Given the description of an element on the screen output the (x, y) to click on. 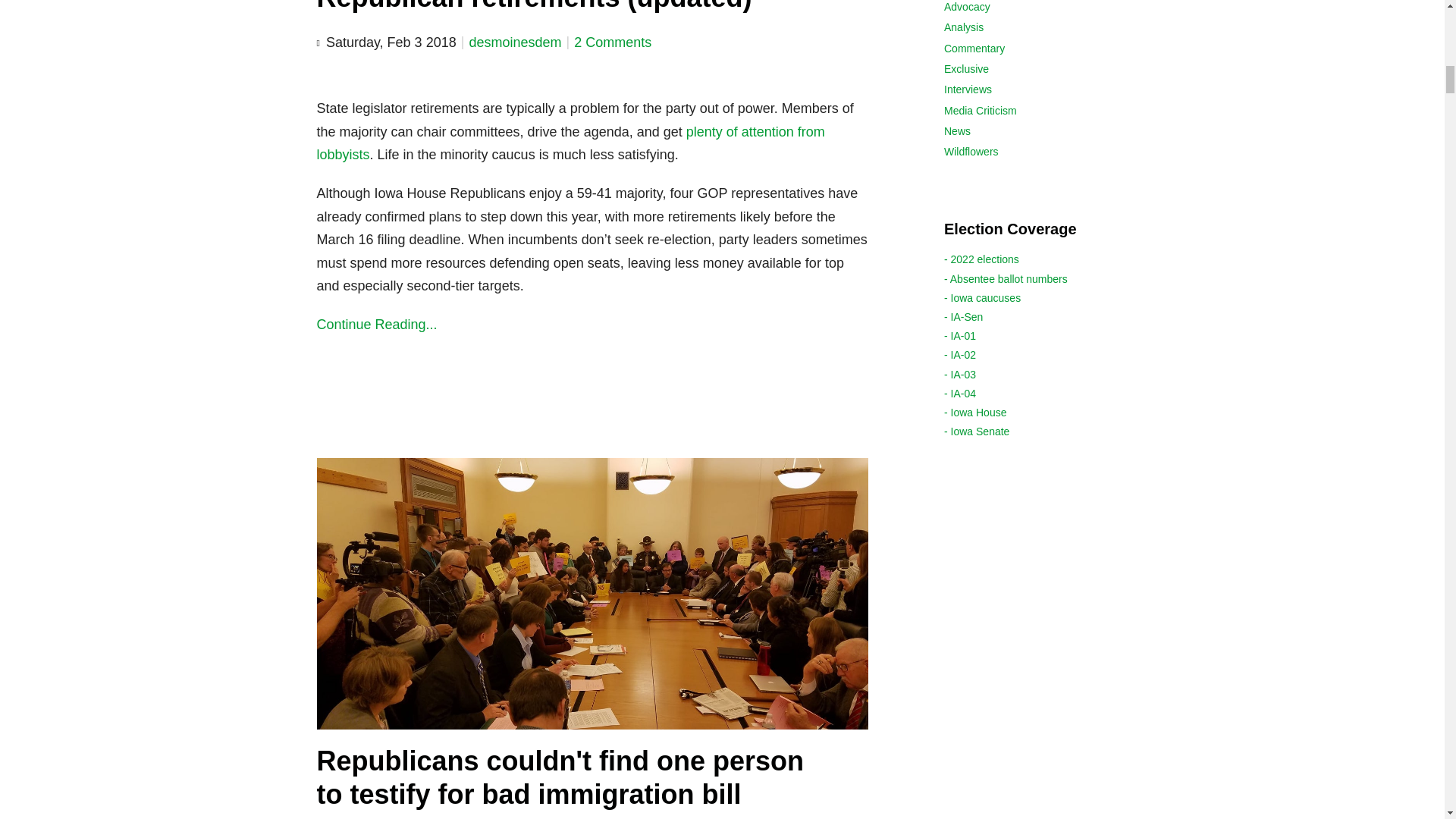
plenty of attention from lobbyists (571, 143)
2 Comments (611, 42)
desmoinesdem (514, 42)
comments (611, 42)
Continue Reading... (593, 324)
